Given the description of an element on the screen output the (x, y) to click on. 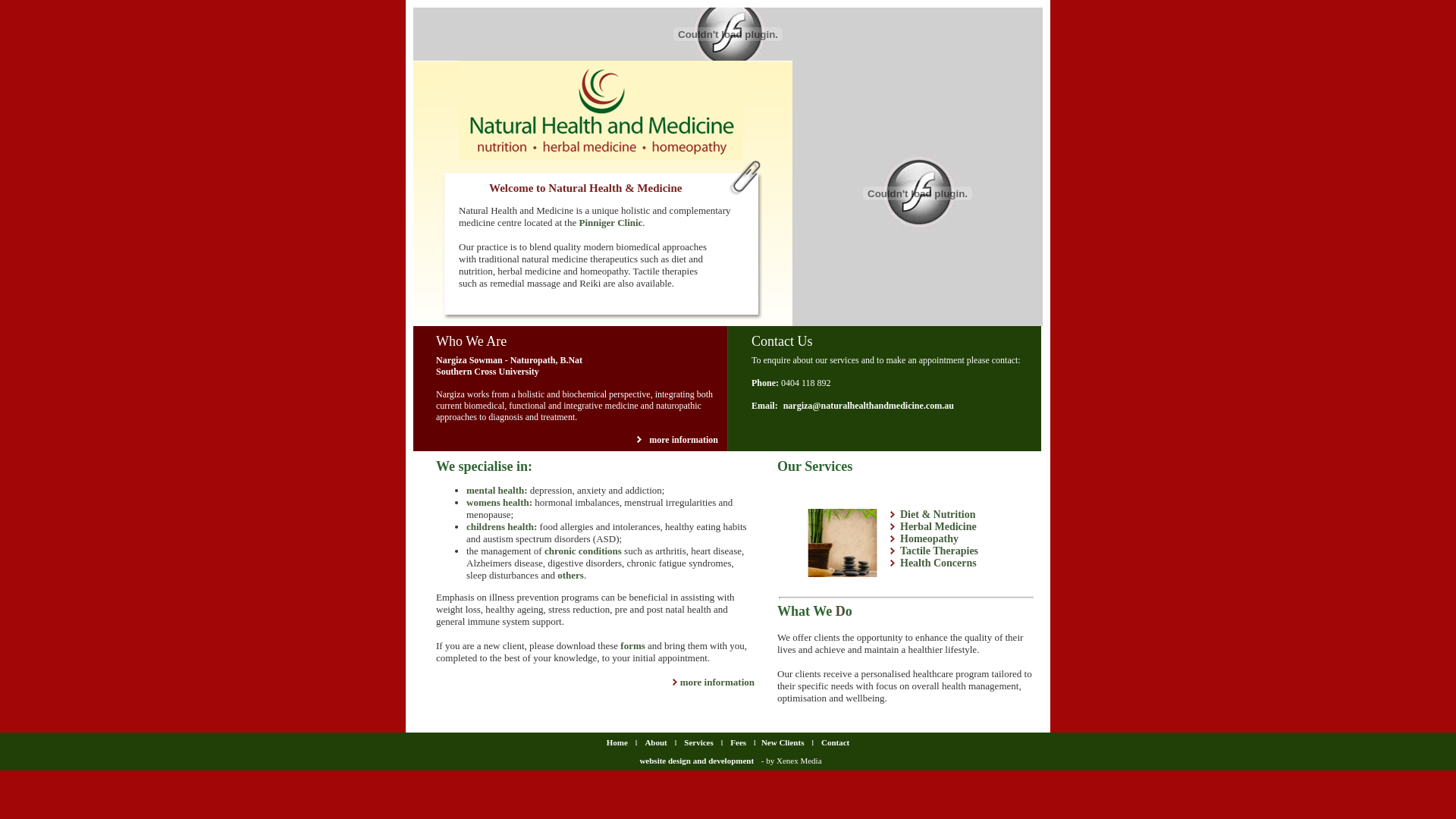
mental health Element type: text (495, 489)
: Element type: text (530, 502)
childrens health Element type: text (499, 526)
nargiza@naturalhealthandmedicine.com.au Element type: text (868, 405)
Tactile Therapies Element type: text (939, 550)
: Element type: text (534, 526)
Diet & Nutrition Element type: text (937, 514)
Services Element type: text (698, 742)
others Element type: text (570, 574)
Home Element type: text (617, 742)
forms Element type: text (632, 645)
New Clients Element type: text (782, 742)
more information Element type: text (717, 681)
chronic conditions Element type: text (582, 550)
Homeopathy Element type: text (929, 538)
more information Element type: text (683, 439)
: Element type: text (525, 489)
website design and development Element type: text (696, 760)
Herbal Medicine Element type: text (938, 526)
Health Concerns Element type: text (938, 562)
Contact Element type: text (834, 742)
About Element type: text (656, 742)
Pinniger Clinic Element type: text (610, 222)
Fees Element type: text (737, 742)
womens health Element type: text (497, 502)
